Given the description of an element on the screen output the (x, y) to click on. 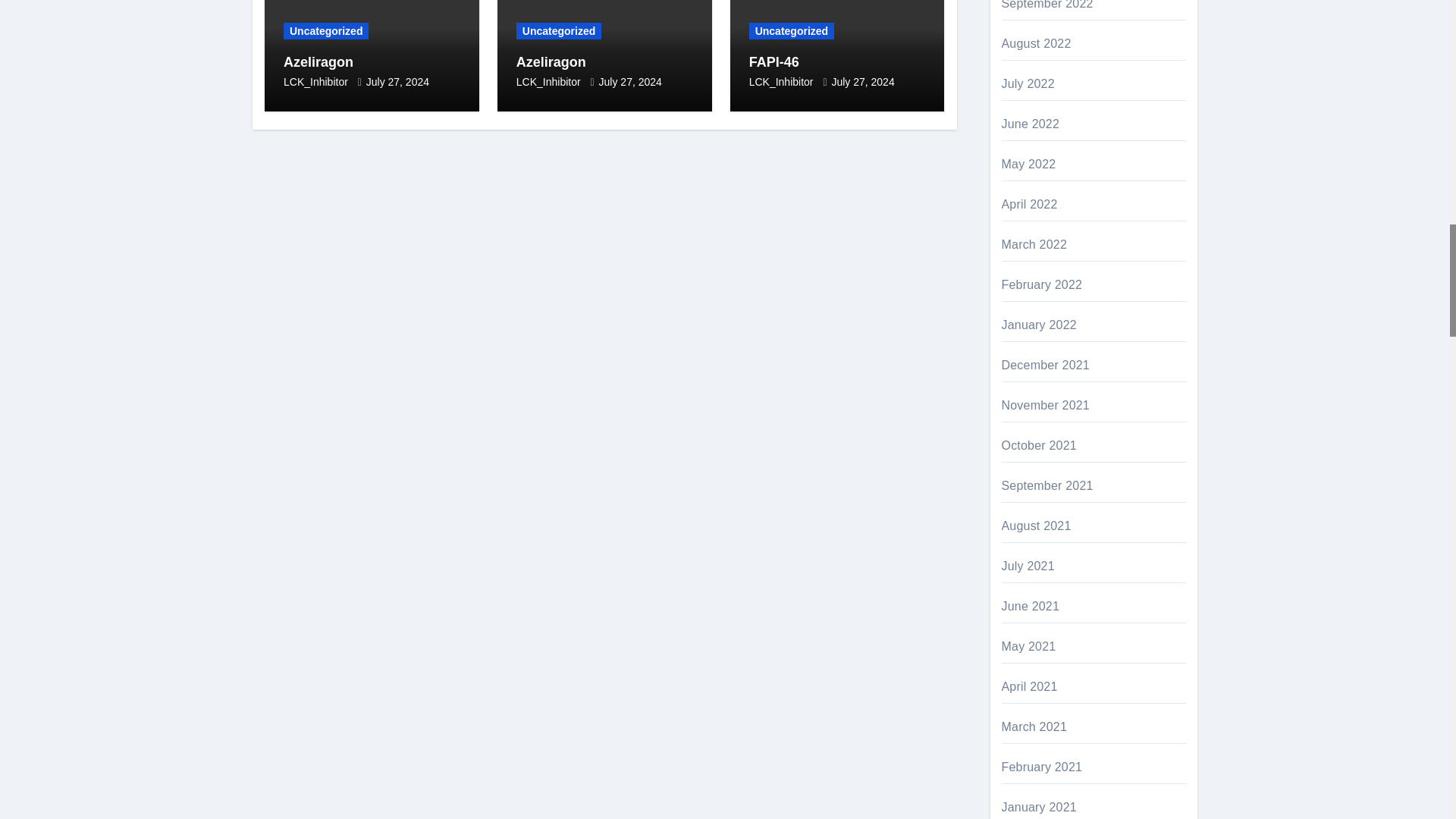
Permalink to: FAPI-46 (774, 61)
Uncategorized (325, 30)
Azeliragon (318, 61)
Permalink to: Azeliragon (551, 61)
Permalink to: Azeliragon (318, 61)
